Given the description of an element on the screen output the (x, y) to click on. 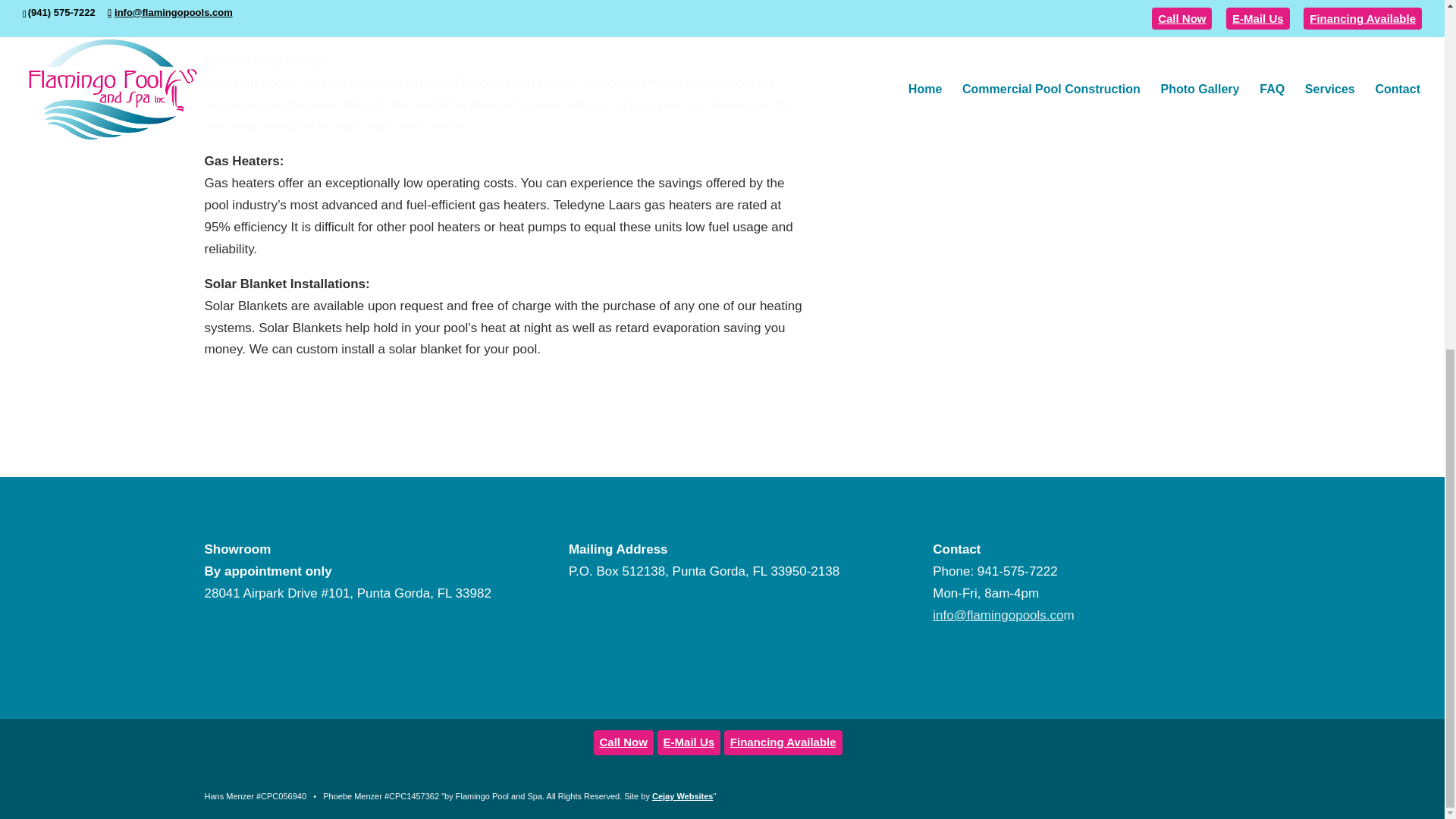
Cejay Websites (682, 795)
Financing Available (782, 741)
E-Mail Us (688, 741)
Call Now (622, 741)
